Given the description of an element on the screen output the (x, y) to click on. 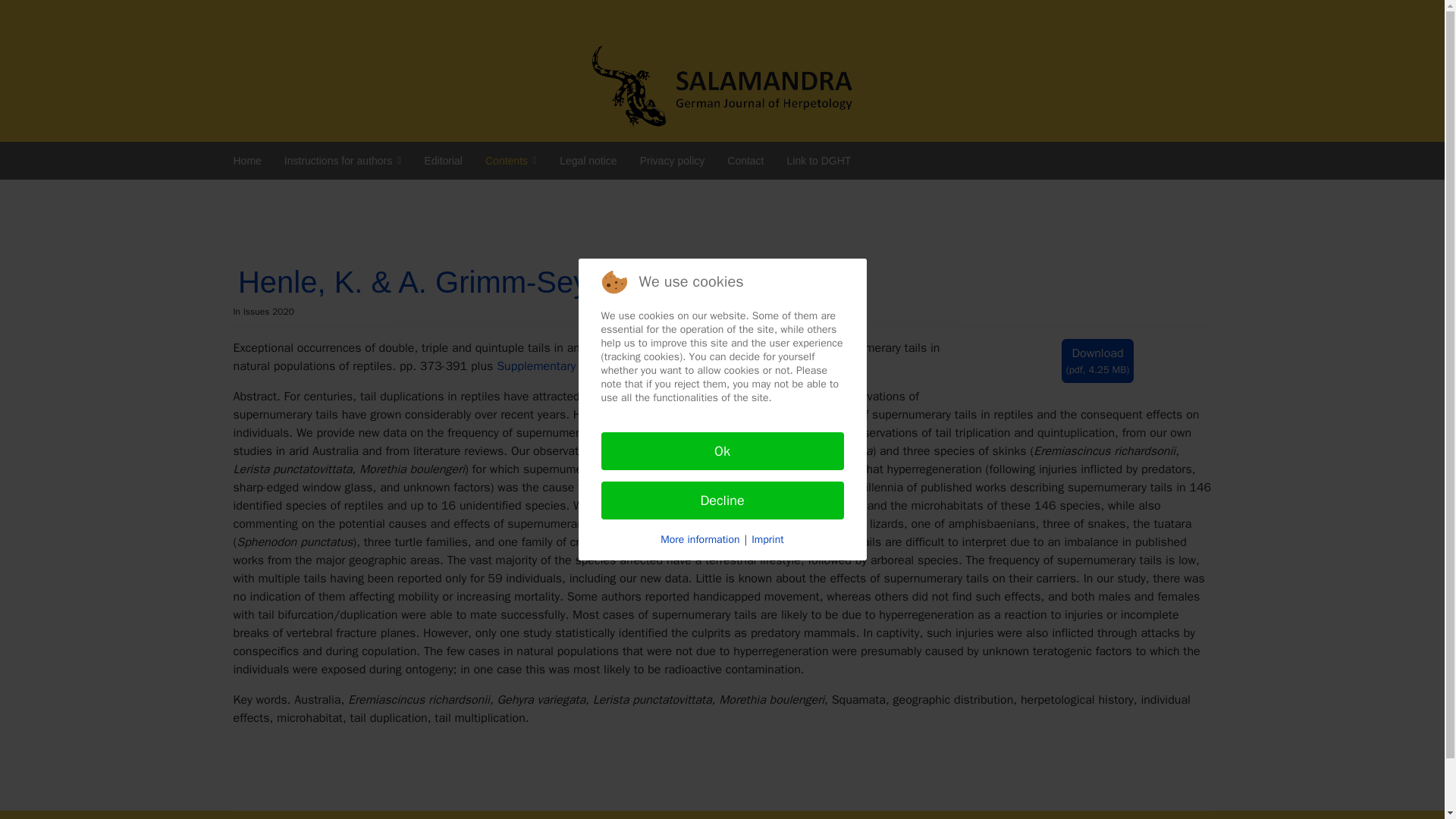
Contents (511, 160)
Home (246, 160)
Instructions for authors (343, 160)
Editorial (443, 160)
